Given the description of an element on the screen output the (x, y) to click on. 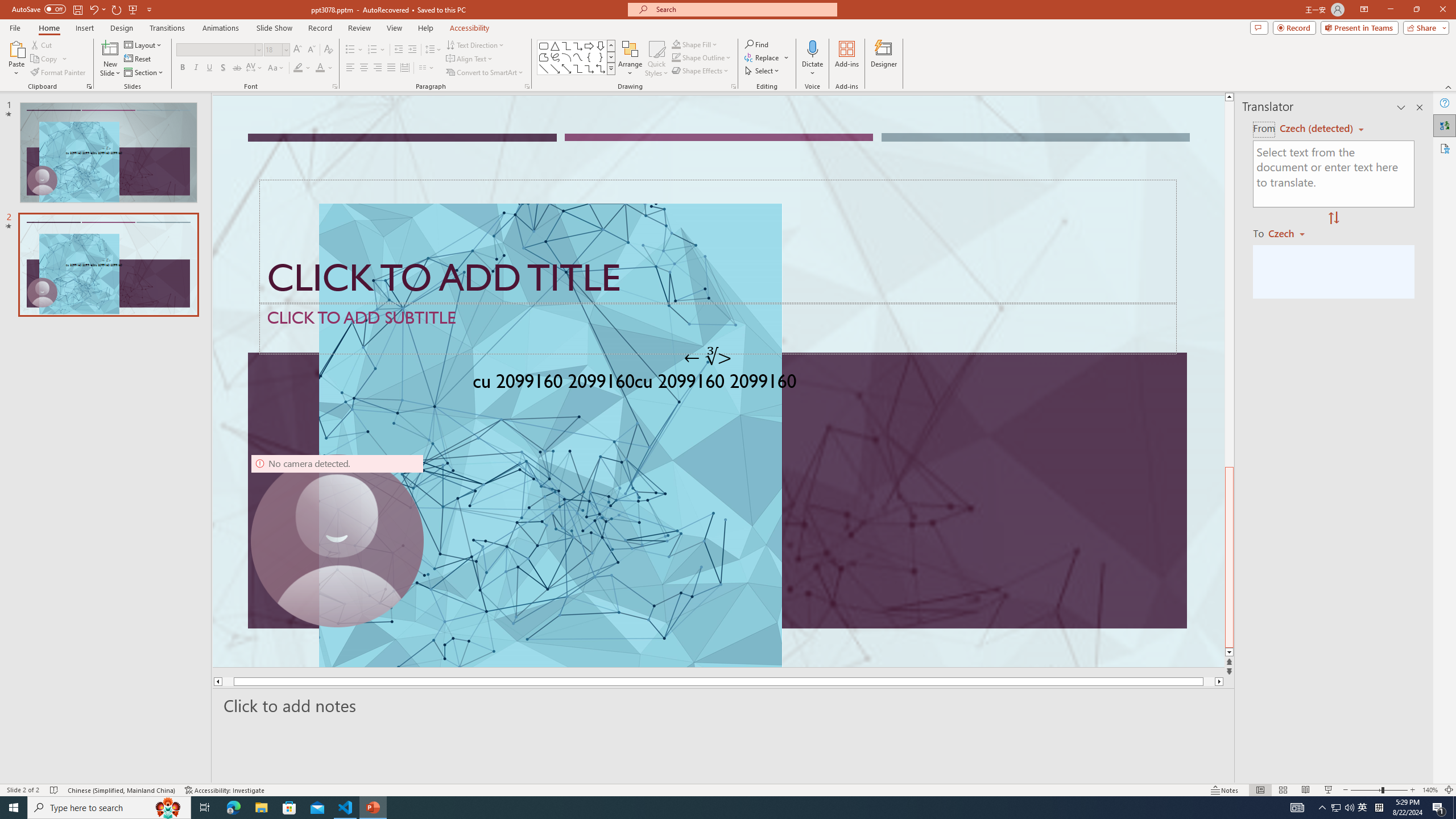
Zoom 140% (1430, 790)
